Given the description of an element on the screen output the (x, y) to click on. 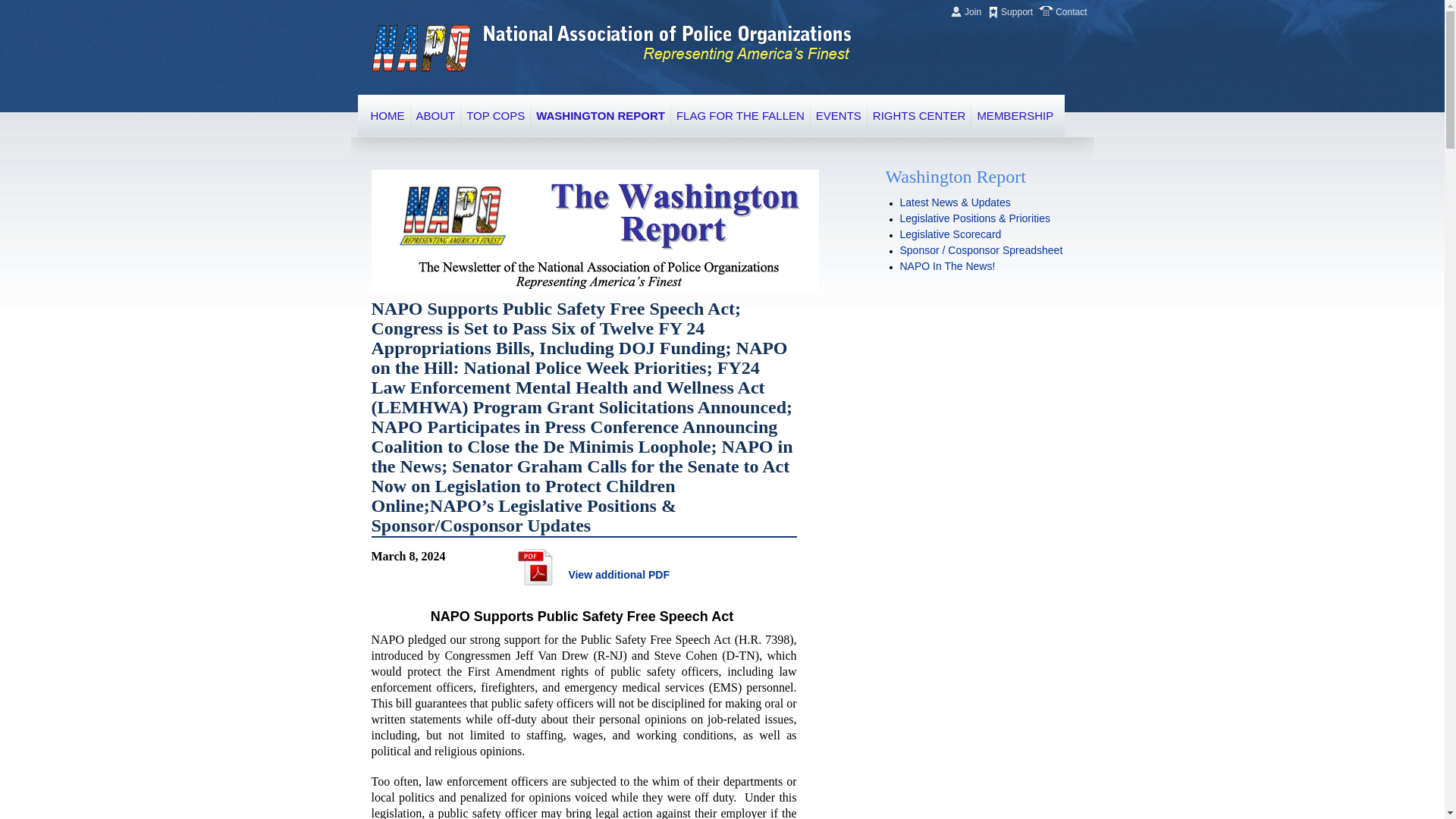
FLAG FOR THE FALLEN (741, 115)
TOP COPS (494, 115)
National Association of Police Organizations (420, 48)
Contact (1069, 11)
Join (972, 11)
Support (1016, 11)
EVENTS (838, 115)
HOME (386, 115)
WASHINGTON REPORT (600, 115)
ABOUT (434, 115)
NAPO (420, 48)
